Given the description of an element on the screen output the (x, y) to click on. 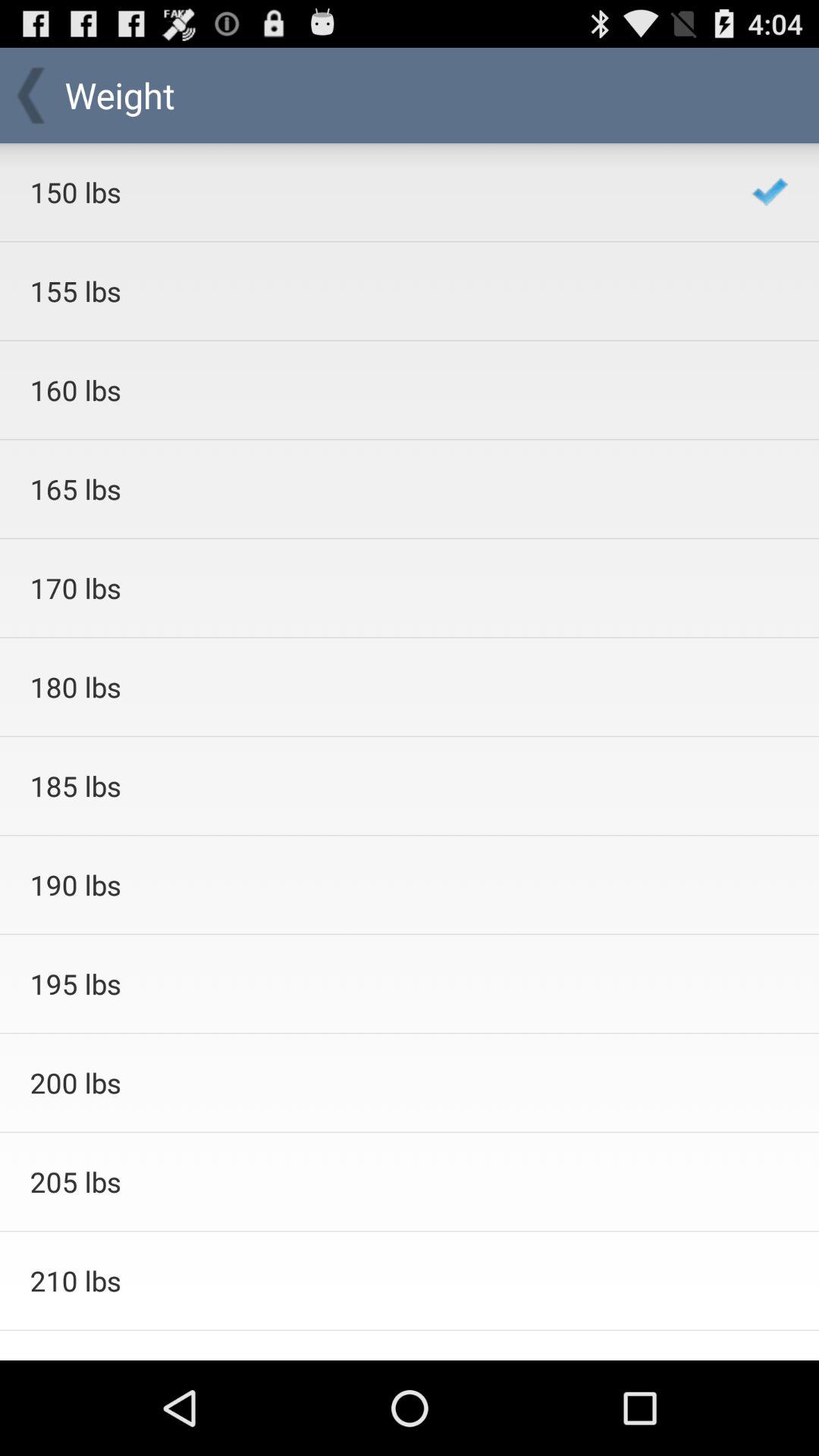
press the icon below 195 lbs (371, 1082)
